Given the description of an element on the screen output the (x, y) to click on. 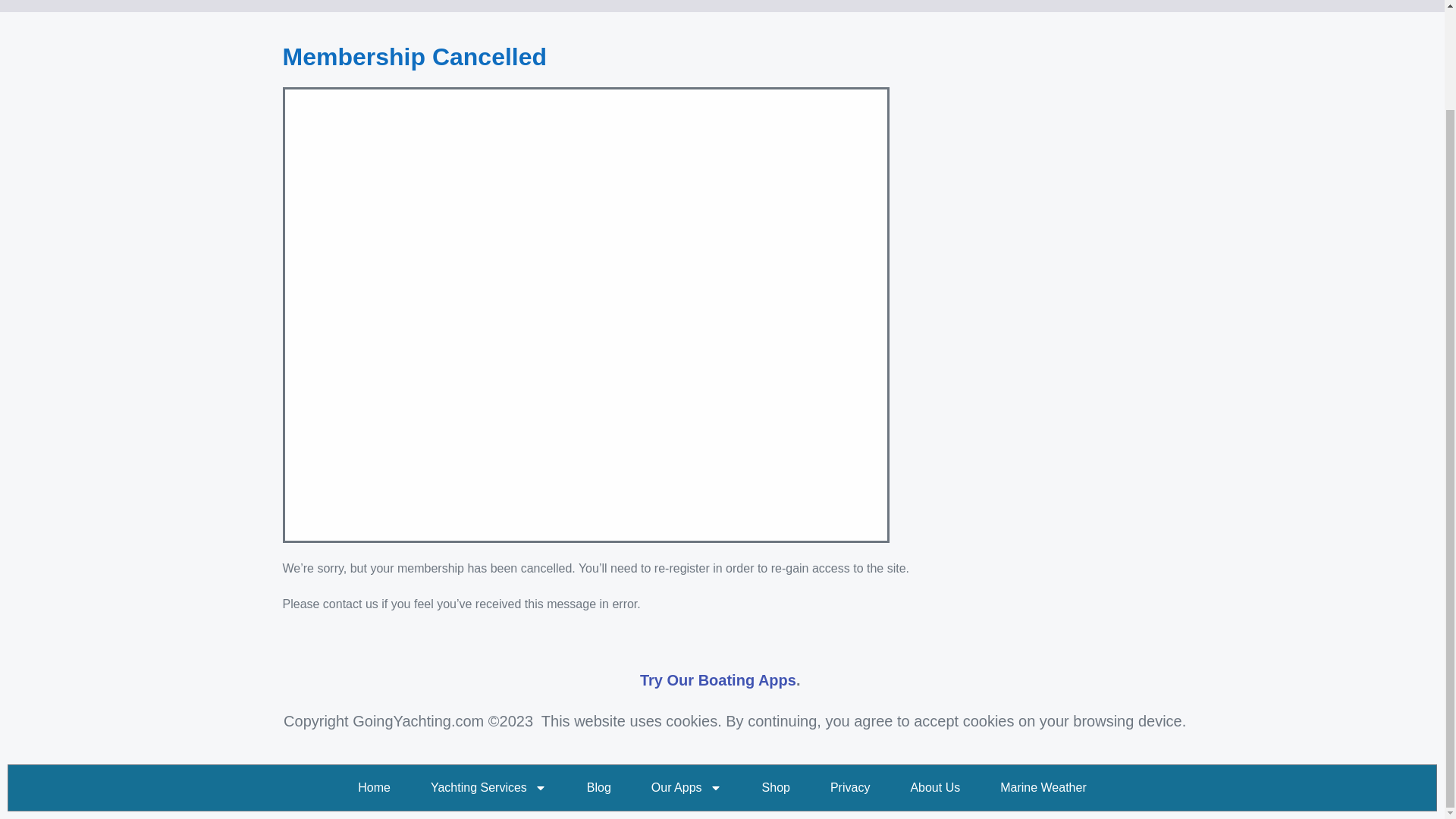
Yachting Services (488, 787)
Home (374, 787)
Try Our Boating Apps (718, 679)
Our Apps (686, 787)
Blog (598, 787)
